Given the description of an element on the screen output the (x, y) to click on. 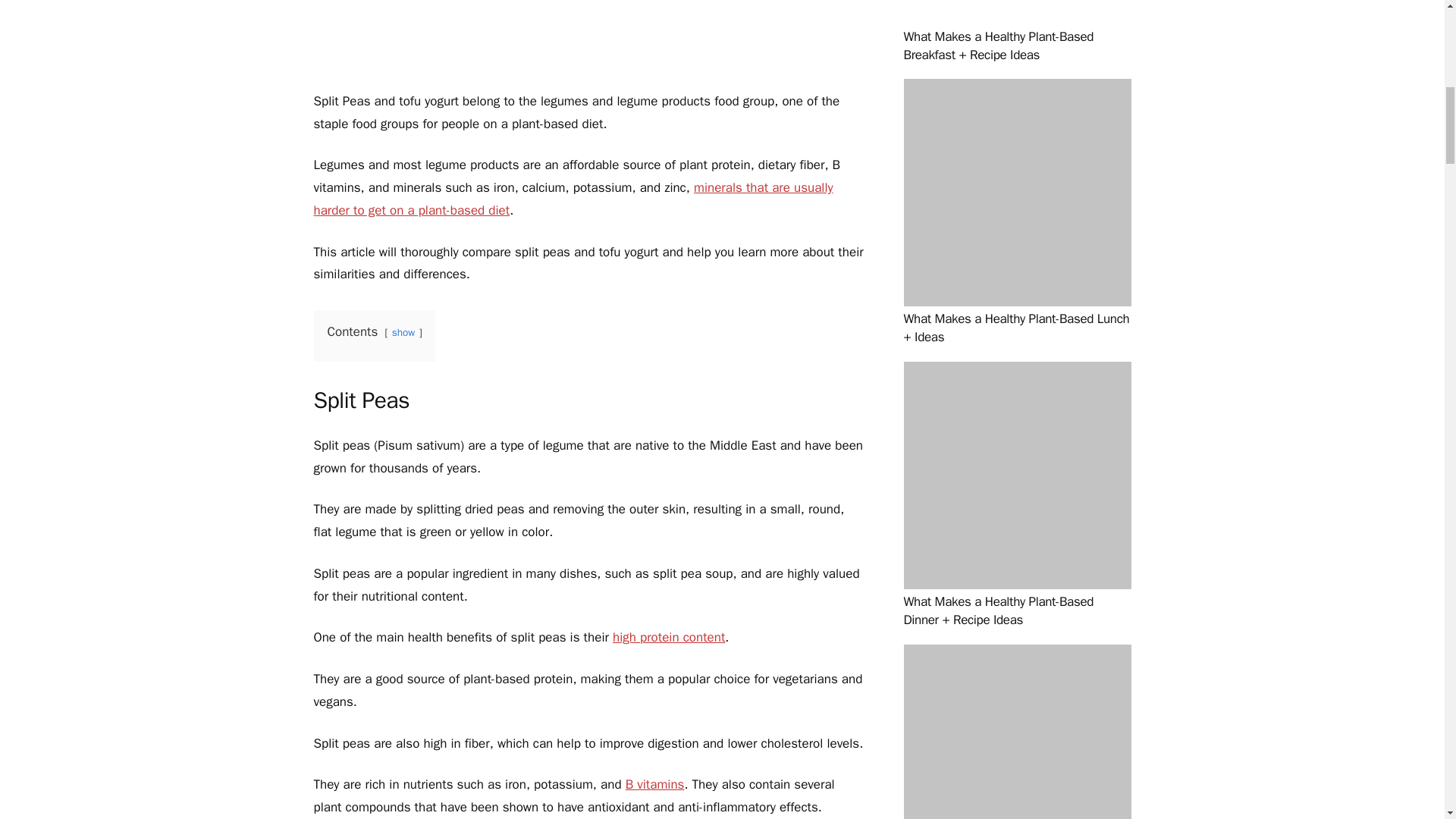
show (402, 332)
B vitamins (655, 784)
high protein content (668, 637)
